Given the description of an element on the screen output the (x, y) to click on. 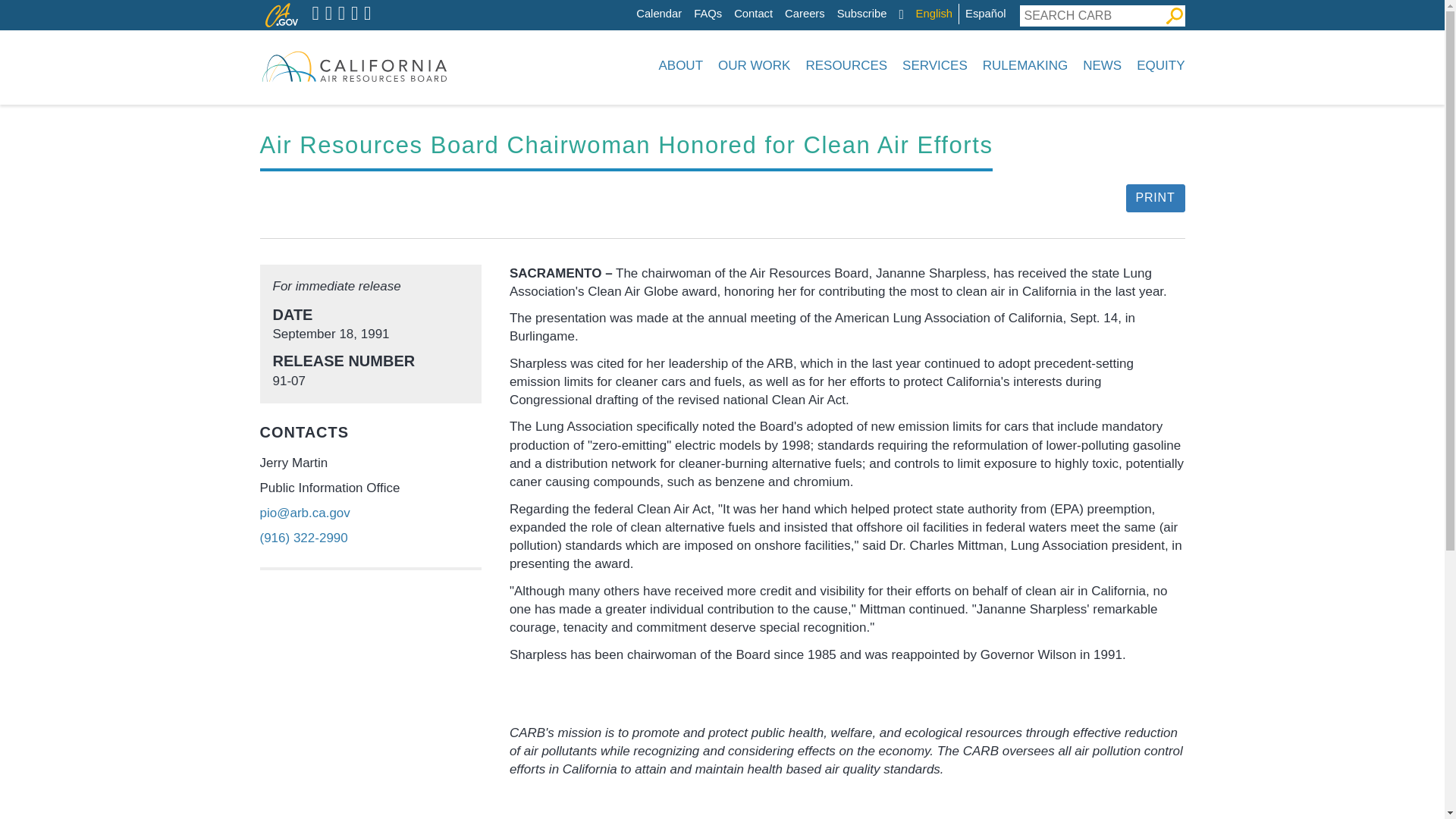
OUR WORK (753, 65)
YOUTUBE (341, 13)
LINKEDIN (354, 13)
Home (353, 65)
Enter the terms you wish to search for. (1091, 15)
Careers (804, 14)
RESOURCES (846, 65)
Search (1174, 15)
Calendar (658, 14)
Search (1174, 15)
RULEMAKING (1025, 65)
ABOUT (680, 65)
English (933, 14)
TWITTER (315, 13)
SERVICES (935, 65)
